Given the description of an element on the screen output the (x, y) to click on. 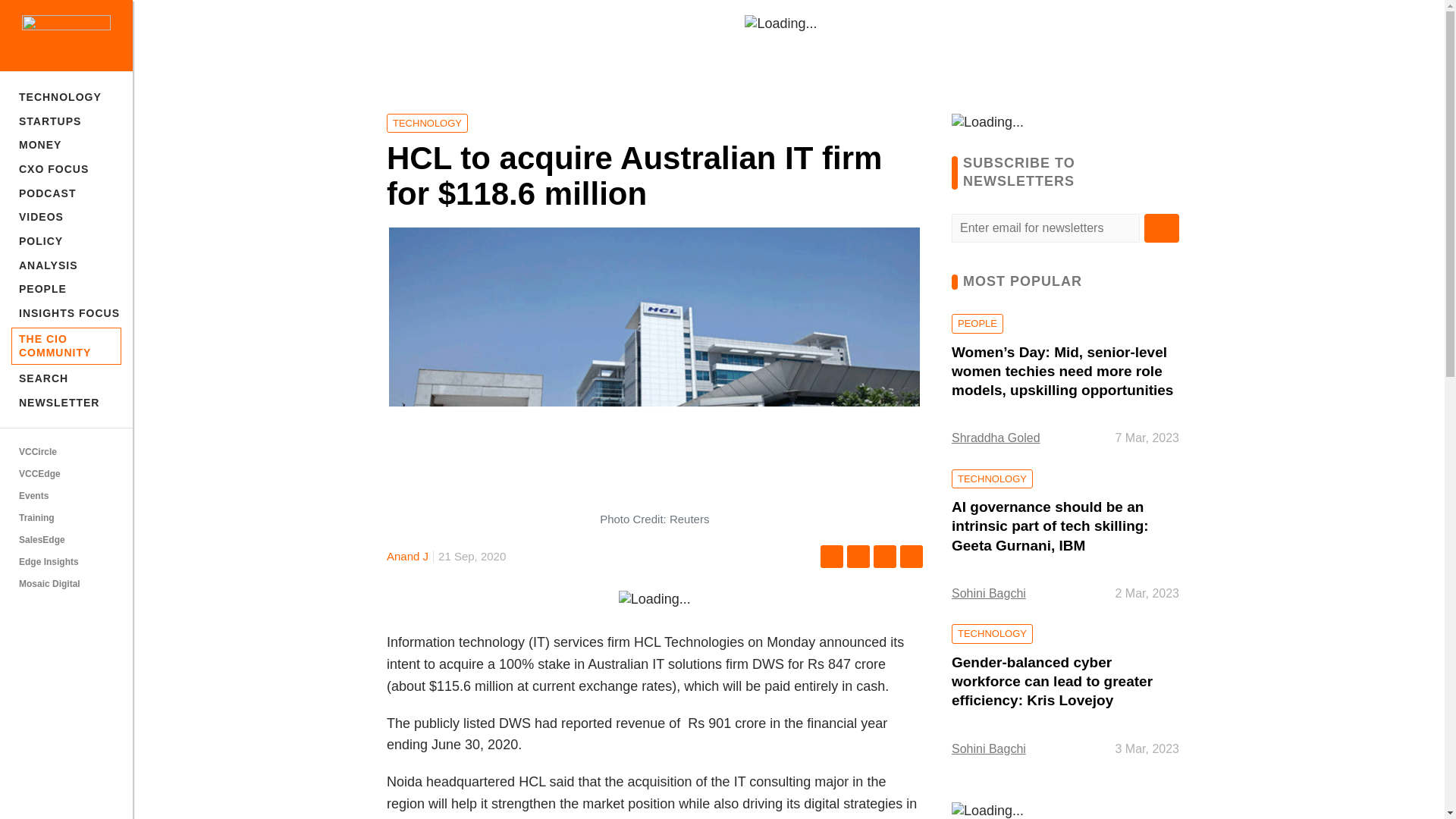
VIDEOS (66, 217)
Events (66, 496)
Twitter (858, 556)
MONEY (66, 145)
NEWSLETTER (66, 403)
SEARCH (66, 378)
Linkedin (884, 556)
CXO FOCUS (66, 168)
PEOPLE (66, 289)
Facebook (832, 556)
PODCAST (66, 193)
Whatsapp (911, 556)
STARTUPS (66, 121)
THE CIO COMMUNITY (65, 345)
INSIGHTS FOCUS (66, 313)
